Given the description of an element on the screen output the (x, y) to click on. 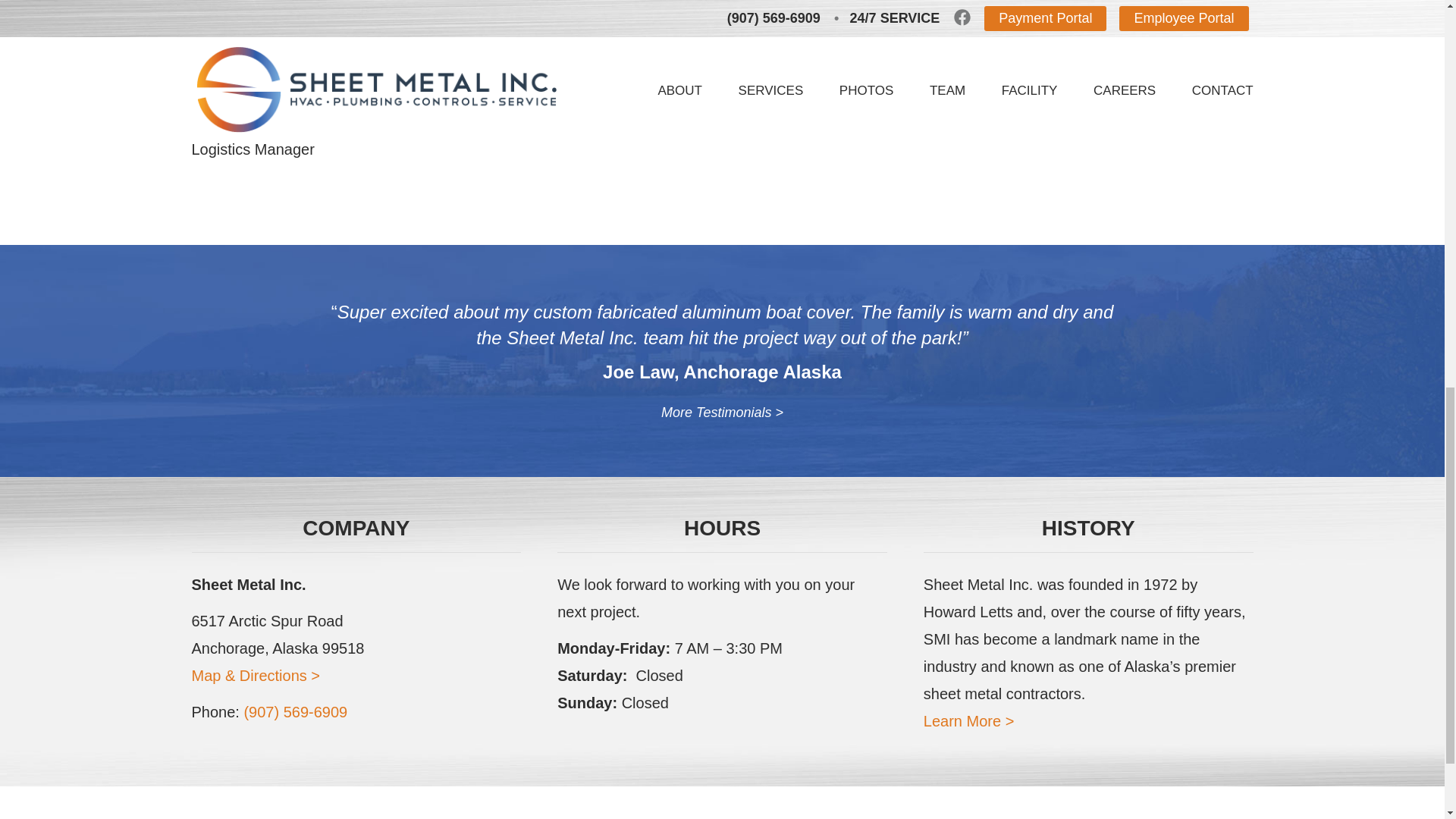
More Testimonials (722, 412)
Testimonials (722, 412)
Learn More (968, 720)
